Given the description of an element on the screen output the (x, y) to click on. 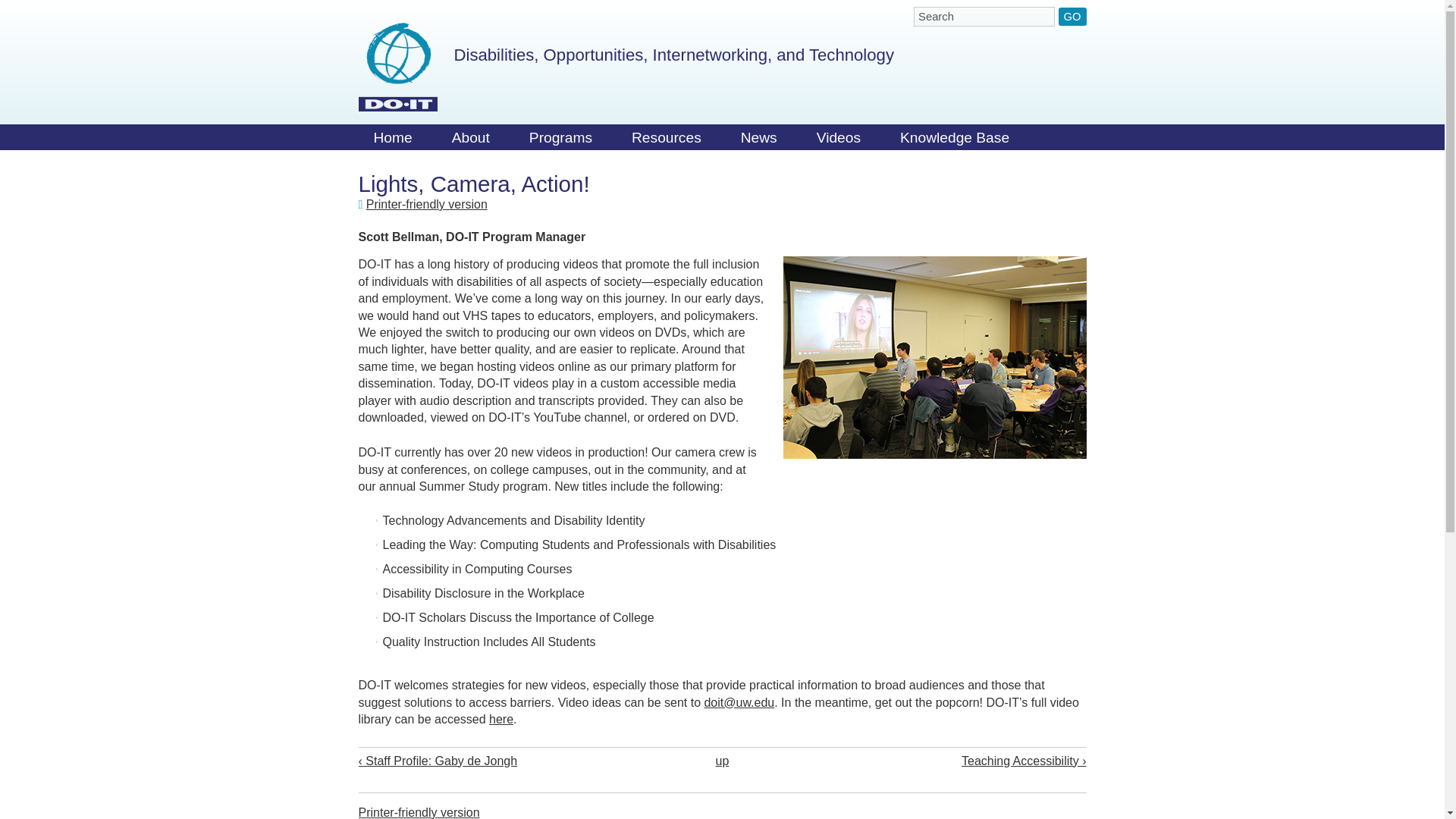
News (758, 140)
Printer-friendly version (426, 204)
Go (1072, 16)
Search (984, 16)
Enter the terms you wish to search for. (984, 16)
Videos (839, 140)
DO-IT (397, 66)
up (722, 760)
Resources (665, 140)
Knowledge Base (955, 140)
Go to next page (940, 760)
Home (397, 66)
